Given the description of an element on the screen output the (x, y) to click on. 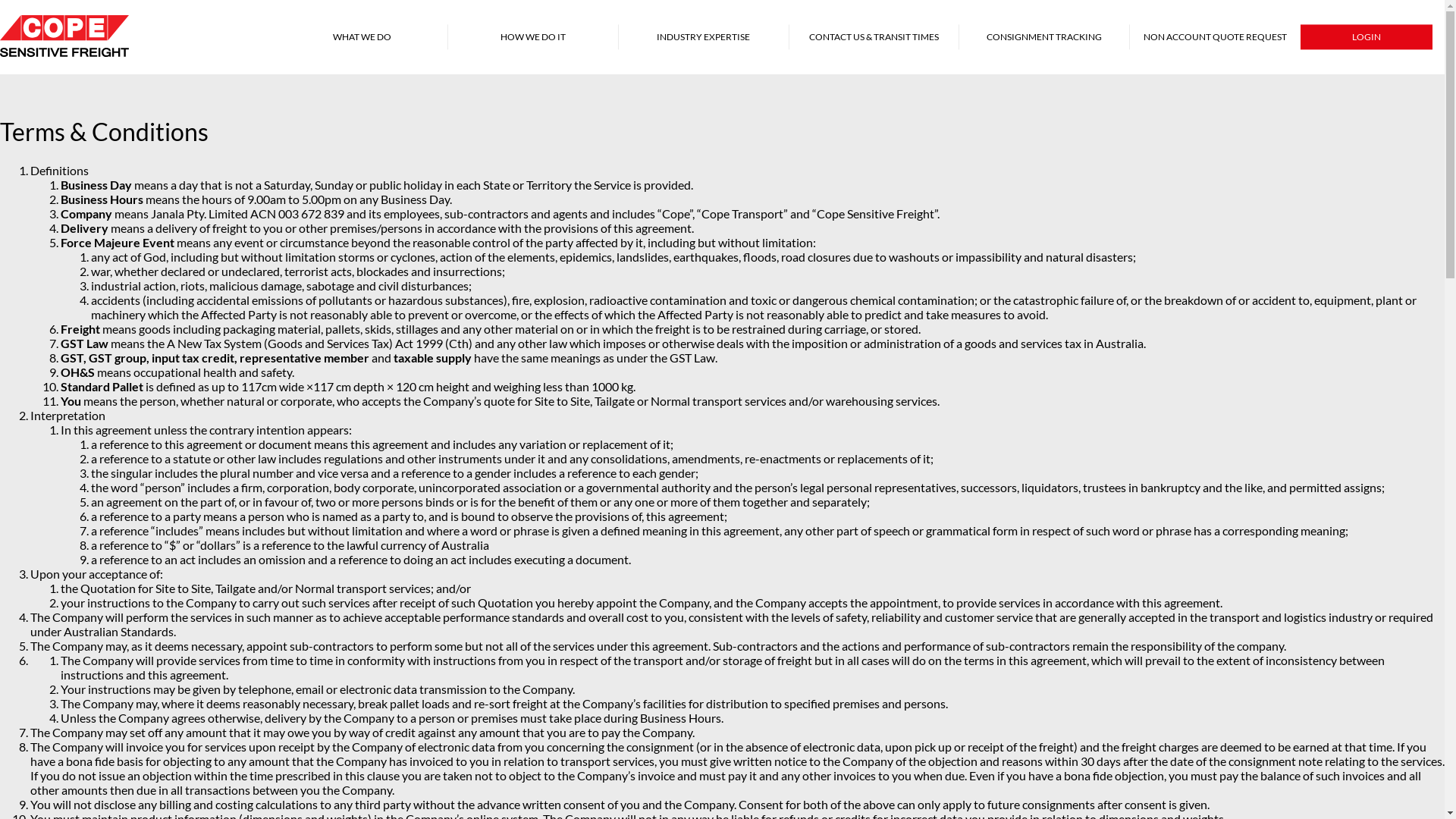
CONSIGNMENT TRACKING Element type: text (1044, 36)
INDUSTRY EXPERTISE Element type: text (703, 36)
LOGIN Element type: text (1366, 36)
CONTACT US & TRANSIT TIMES Element type: text (874, 36)
HOW WE DO IT Element type: text (533, 36)
NON ACCOUNT QUOTE REQUEST Element type: text (1214, 36)
WHAT WE DO Element type: text (362, 36)
